Given the description of an element on the screen output the (x, y) to click on. 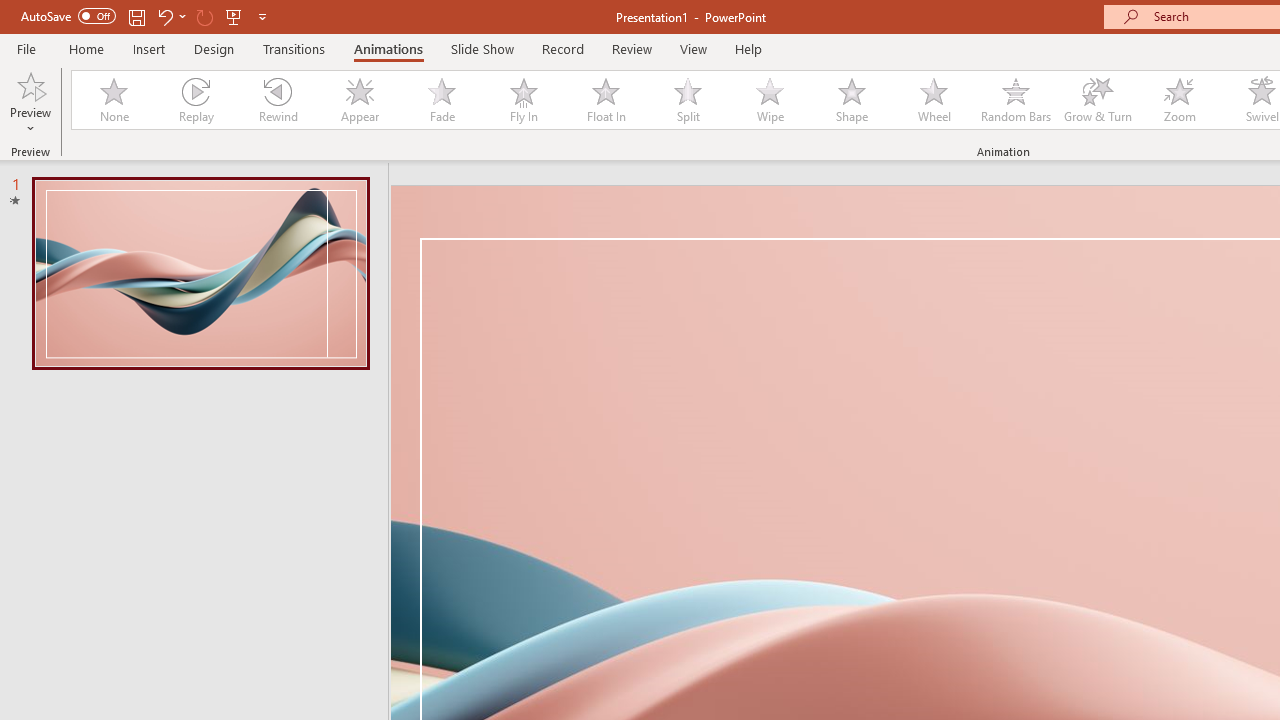
Replay (195, 100)
Split (687, 100)
Appear (359, 100)
None (113, 100)
